Given the description of an element on the screen output the (x, y) to click on. 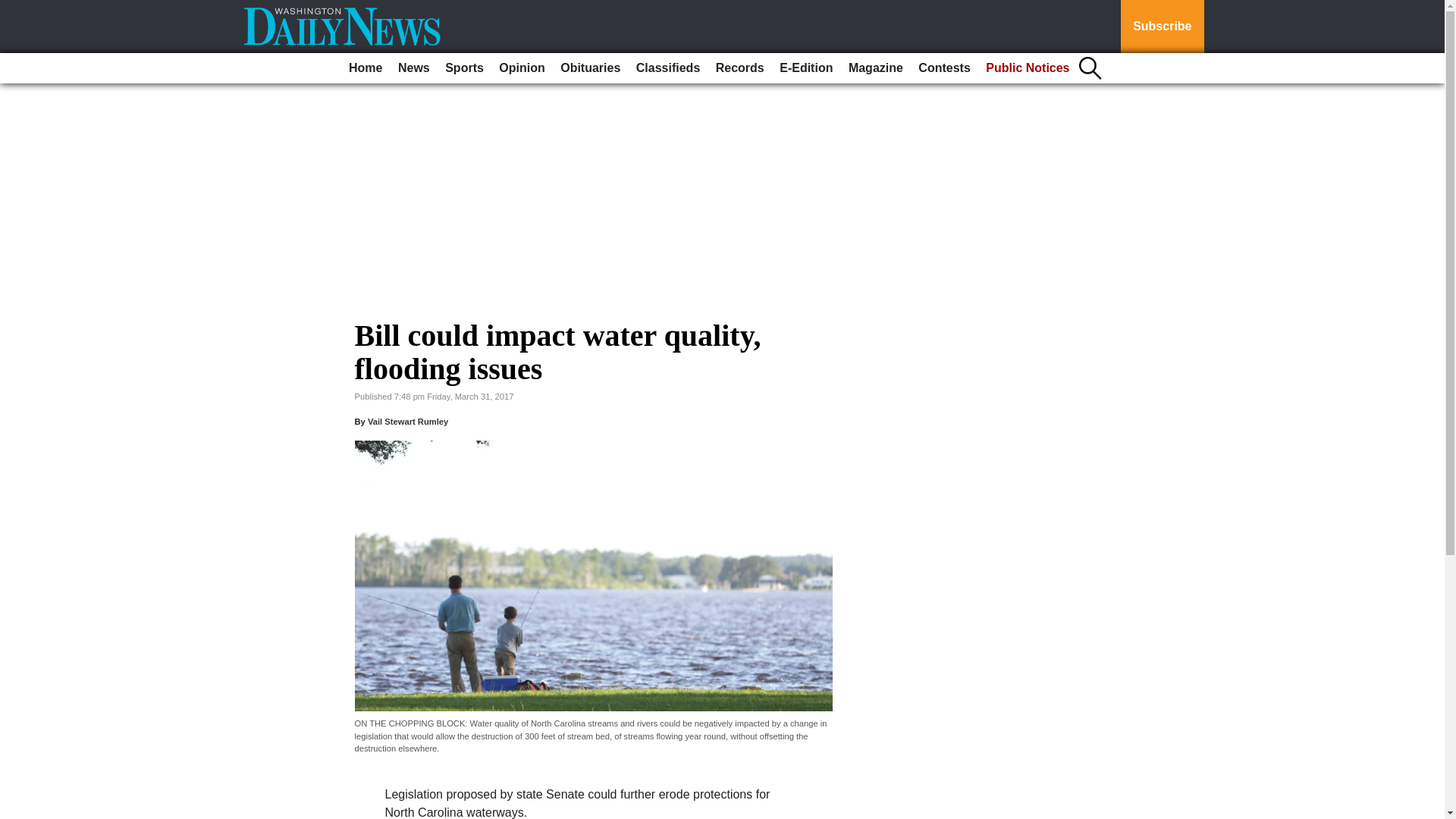
Sports (464, 68)
Home (365, 68)
E-Edition (805, 68)
Public Notices (1027, 68)
Vail Stewart Rumley (408, 420)
Obituaries (590, 68)
News (413, 68)
Subscribe (1162, 26)
Opinion (521, 68)
Contests (943, 68)
Records (740, 68)
Magazine (875, 68)
Classifieds (668, 68)
Go (13, 9)
